Given the description of an element on the screen output the (x, y) to click on. 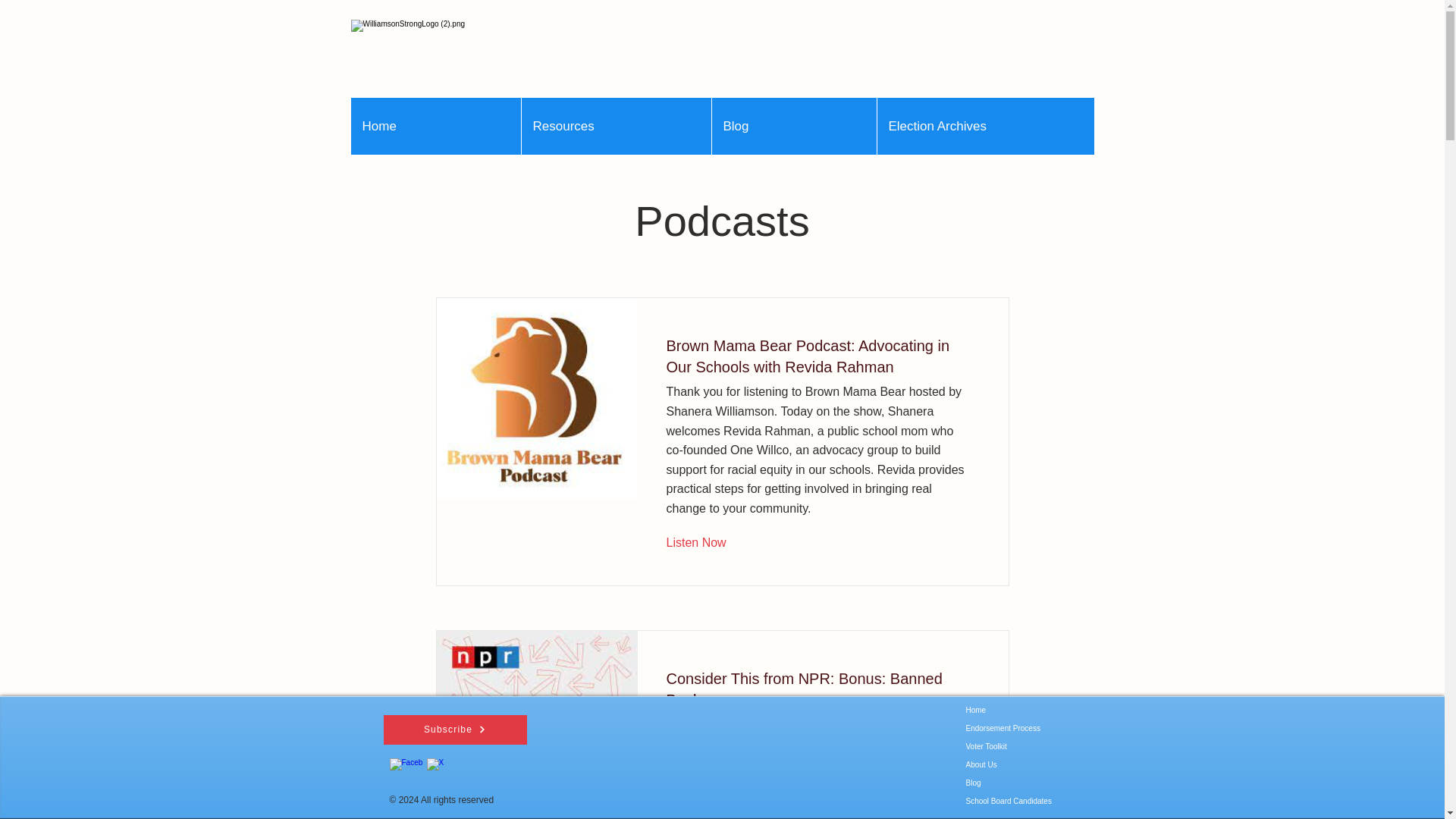
Home (434, 125)
Blog (793, 125)
Subscribe (455, 729)
Listen Now (706, 543)
